Given the description of an element on the screen output the (x, y) to click on. 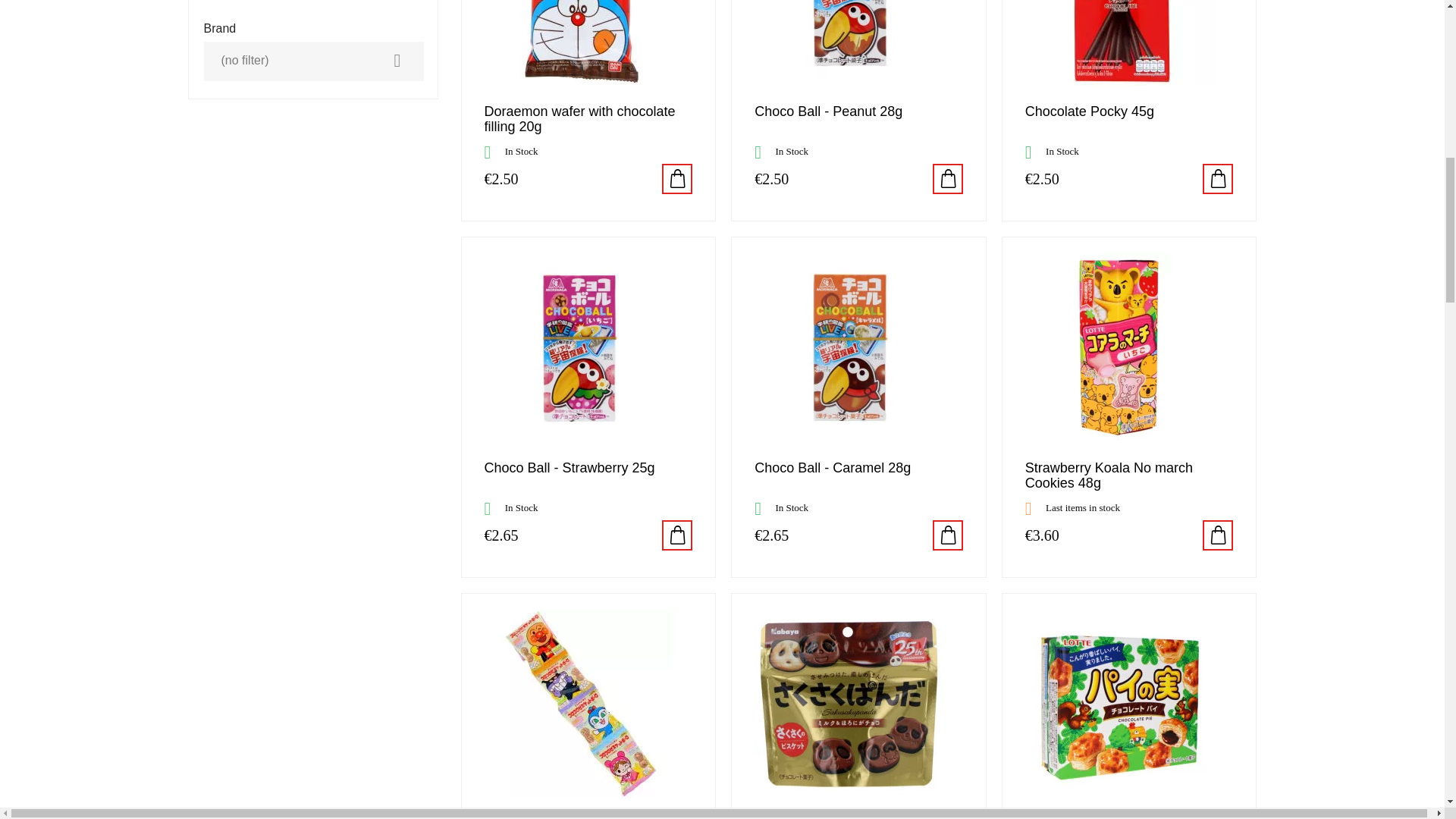
Ajouter au panier (1217, 535)
Ajouter au panier (947, 535)
Ajouter au panier (1217, 178)
Ajouter au panier (677, 178)
Ajouter au panier (677, 535)
Ajouter au panier (947, 178)
